Given the description of an element on the screen output the (x, y) to click on. 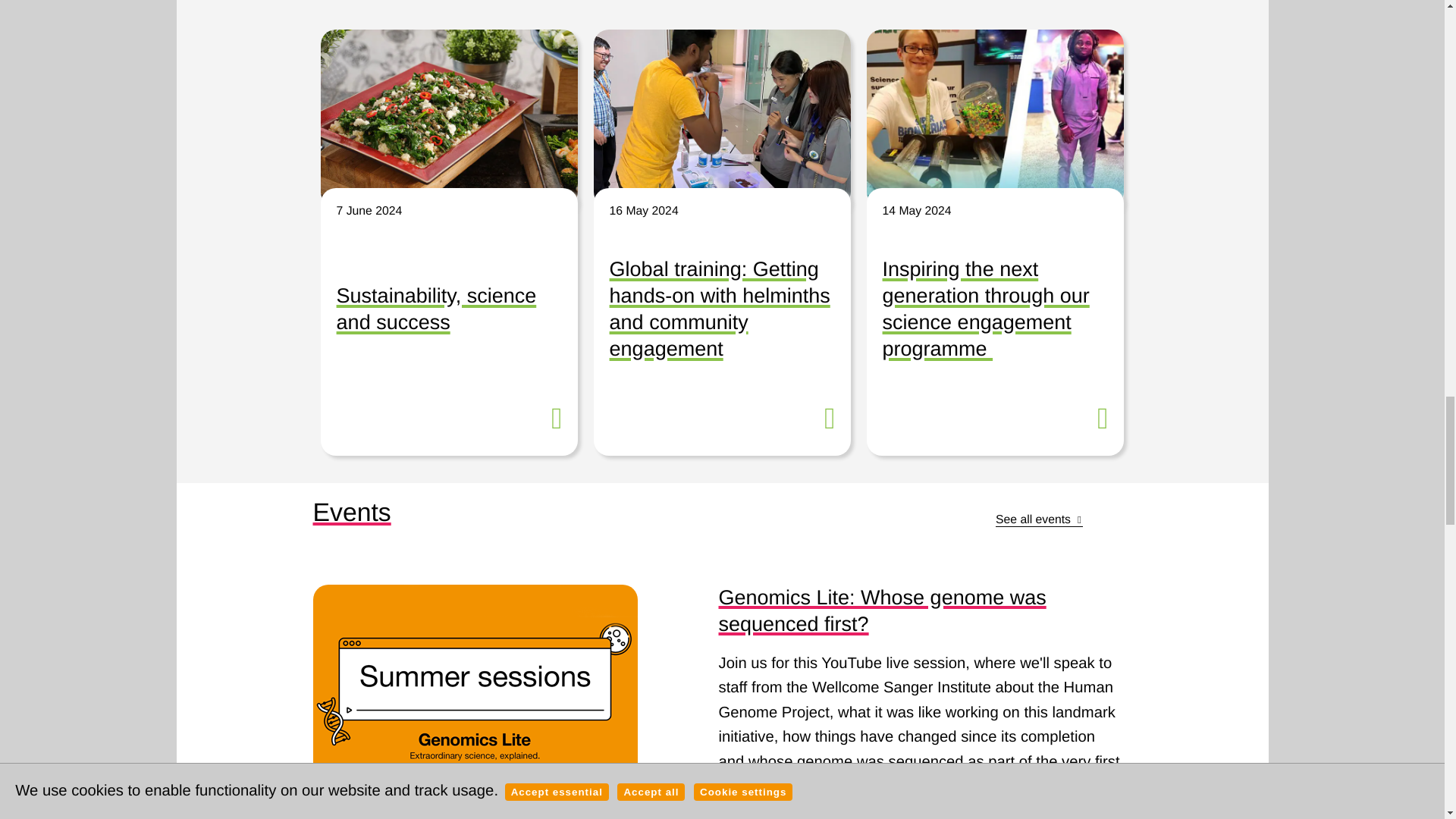
Platter of Kale, lentil, couscous, broccoli and feta salad. (448, 118)
Genomics Lite, summer sessions. (475, 696)
